Given the description of an element on the screen output the (x, y) to click on. 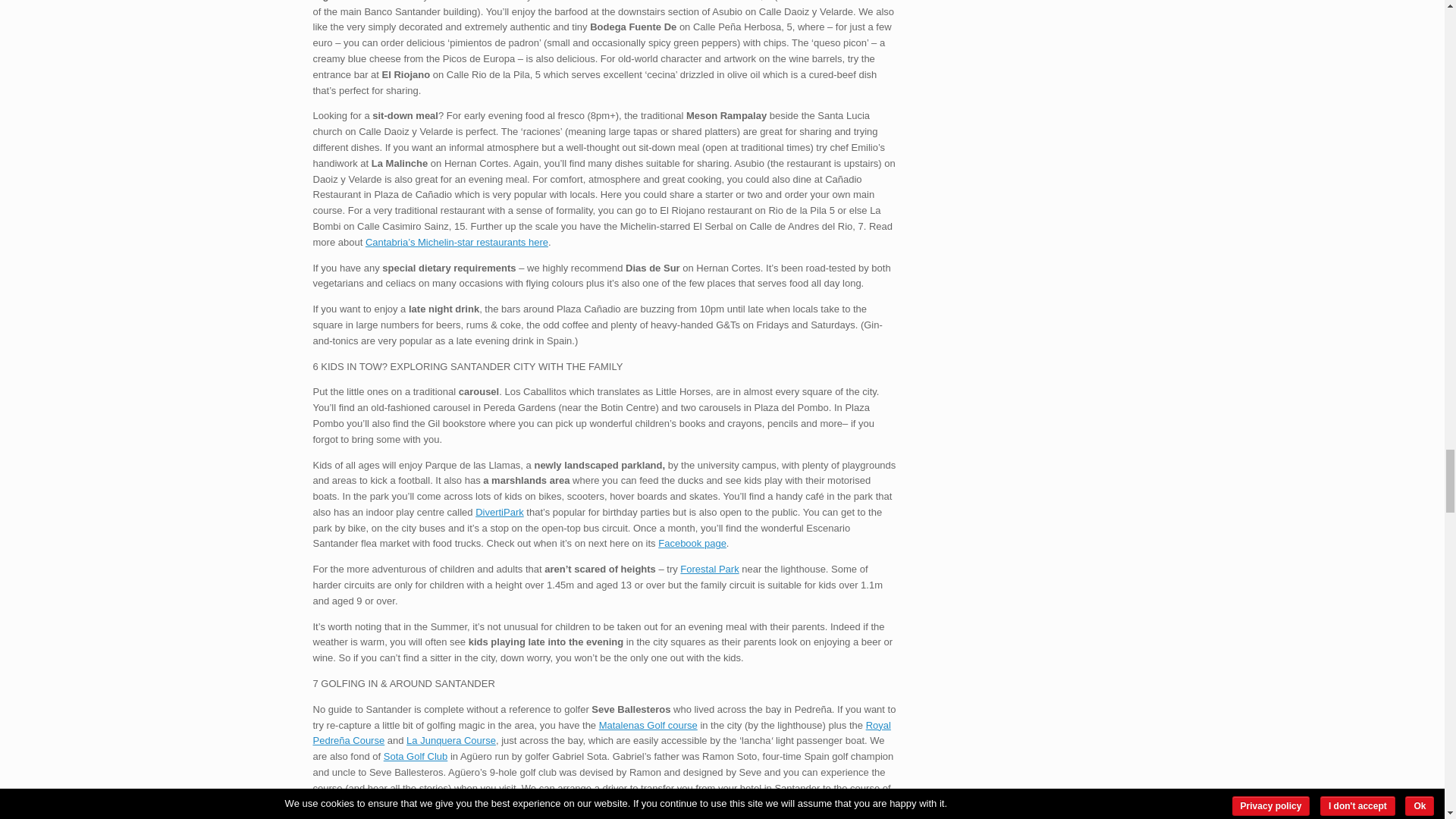
DivertiPark (500, 511)
Facebook page (692, 542)
La Junquera Course (451, 740)
Sota Golf Club (416, 756)
Matalenas Golf course (647, 725)
Forestal Park (708, 568)
